Given the description of an element on the screen output the (x, y) to click on. 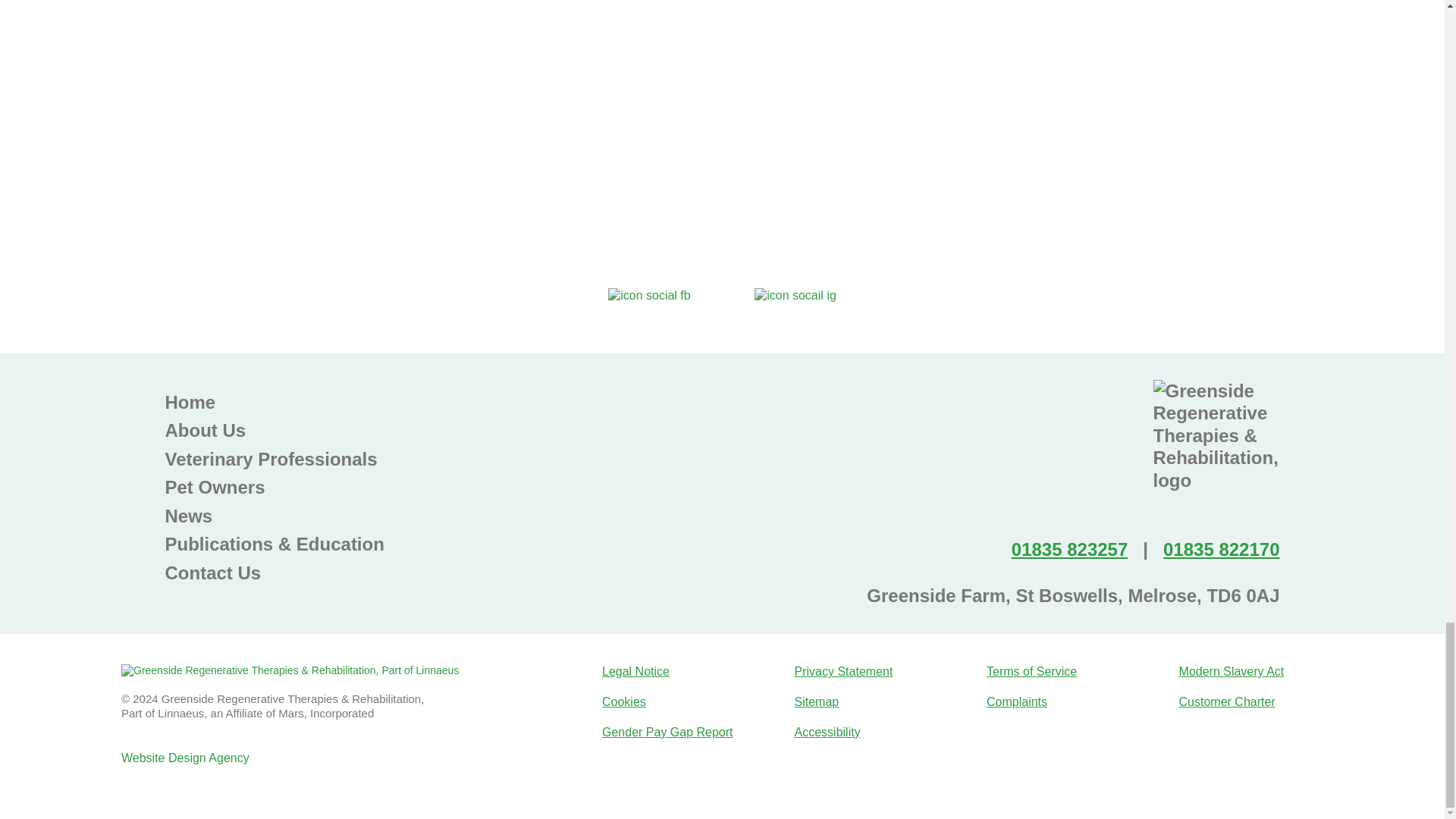
Website Development by Clickingmad (184, 757)
